Given the description of an element on the screen output the (x, y) to click on. 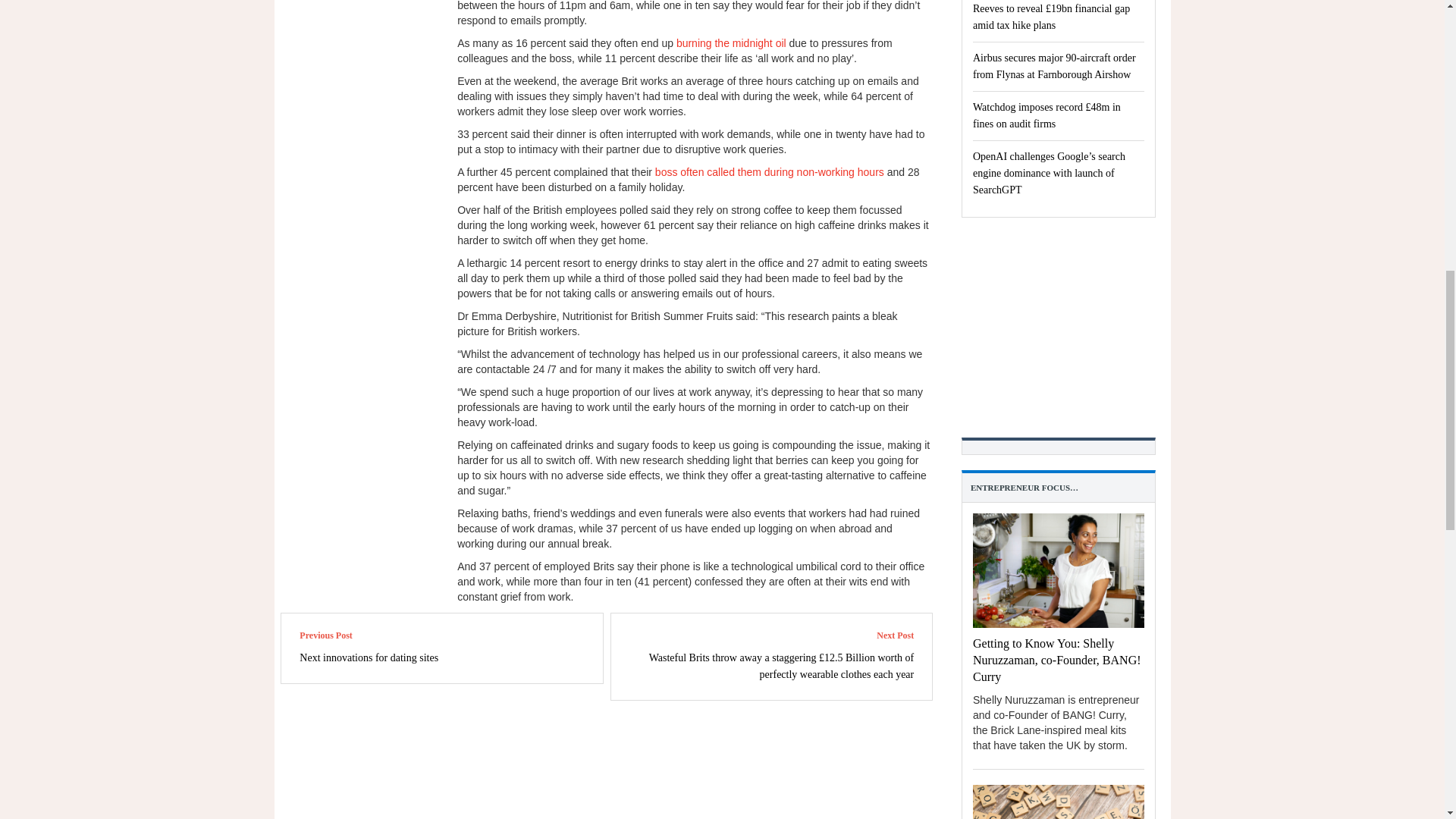
burning the midnight oil (731, 42)
Next innovations for dating sites (368, 657)
boss often called them during non-working hours (769, 172)
